Given the description of an element on the screen output the (x, y) to click on. 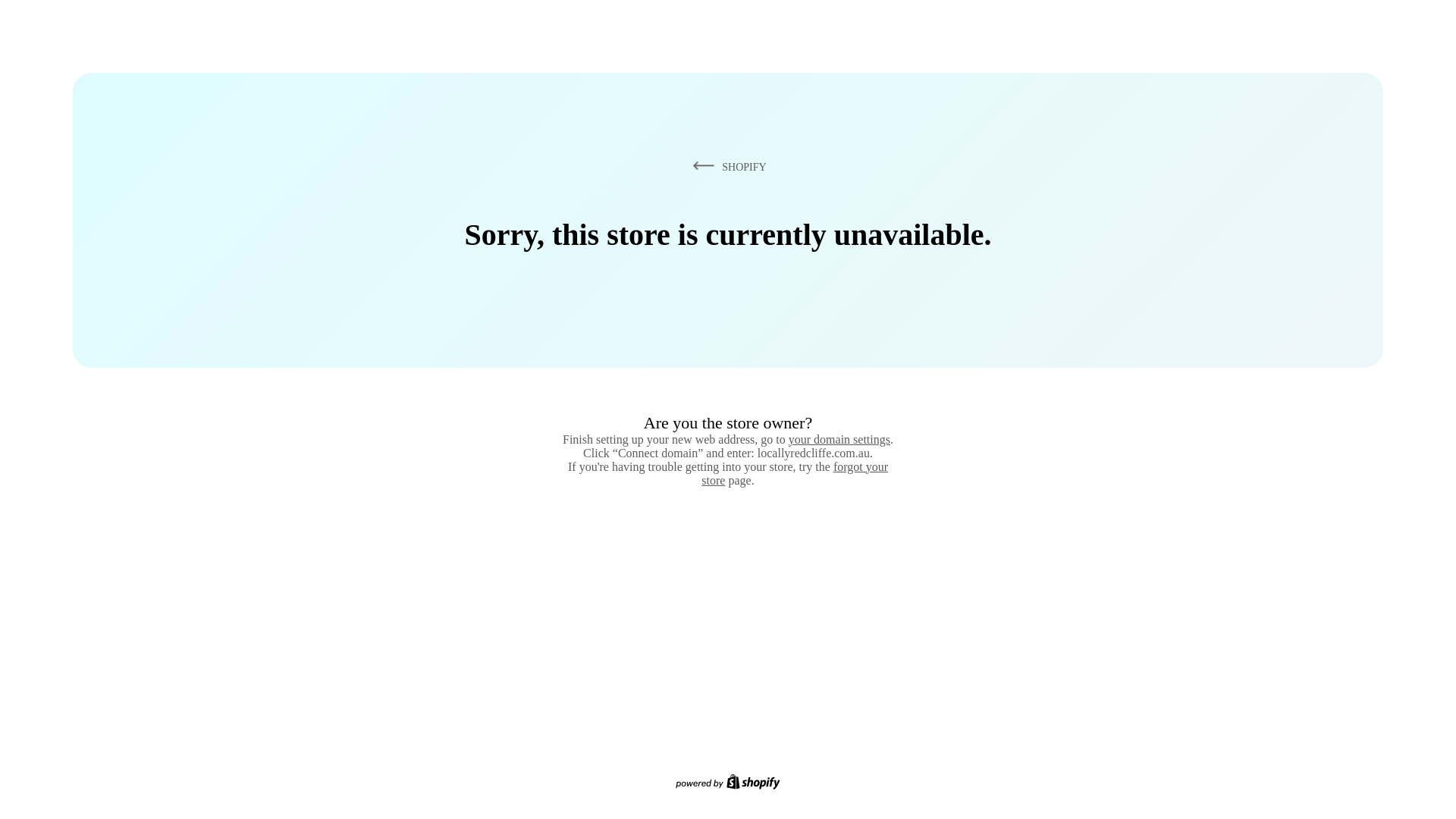
forgot your store (794, 473)
your domain settings (839, 439)
SHOPIFY (726, 166)
